Given the description of an element on the screen output the (x, y) to click on. 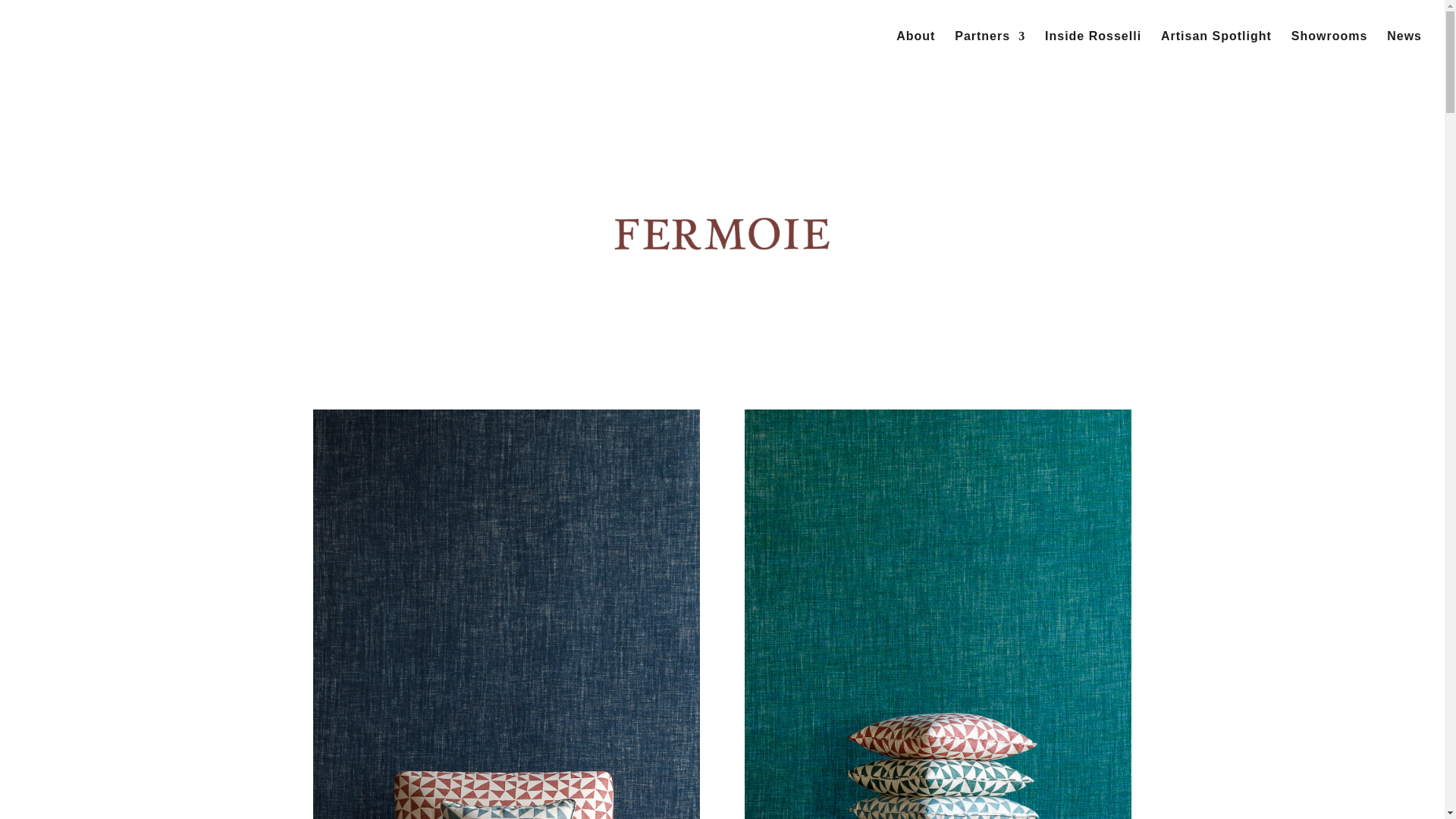
Inside Rosselli (1093, 51)
Partners (990, 51)
Artisan Spotlight (1215, 51)
About (915, 51)
Showrooms (1329, 51)
